Given the description of an element on the screen output the (x, y) to click on. 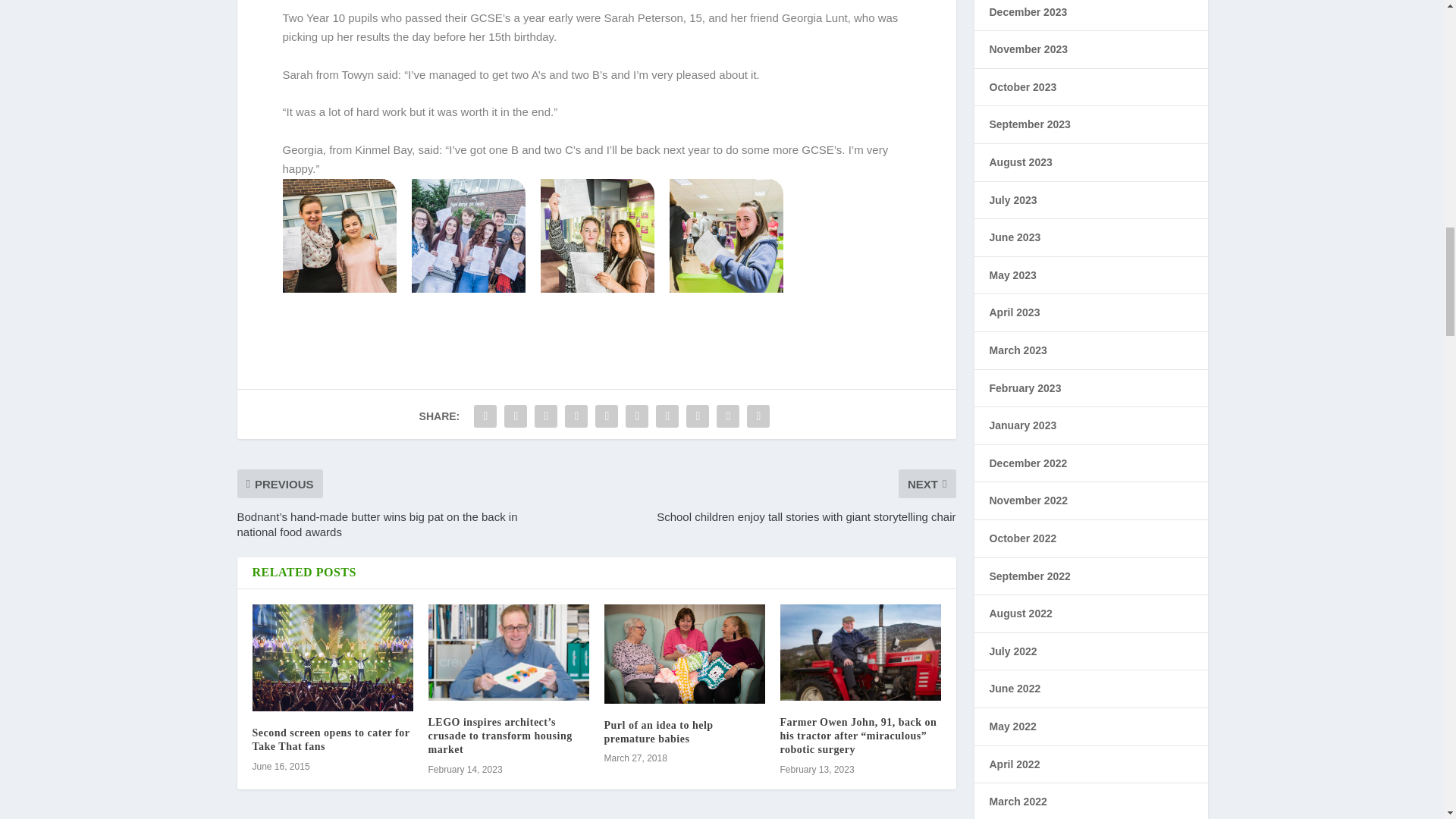
Purl of an idea to help premature babies (658, 731)
Second screen opens to cater for Take That fans (330, 739)
Second screen opens to cater for Take That fans (331, 657)
